Given the description of an element on the screen output the (x, y) to click on. 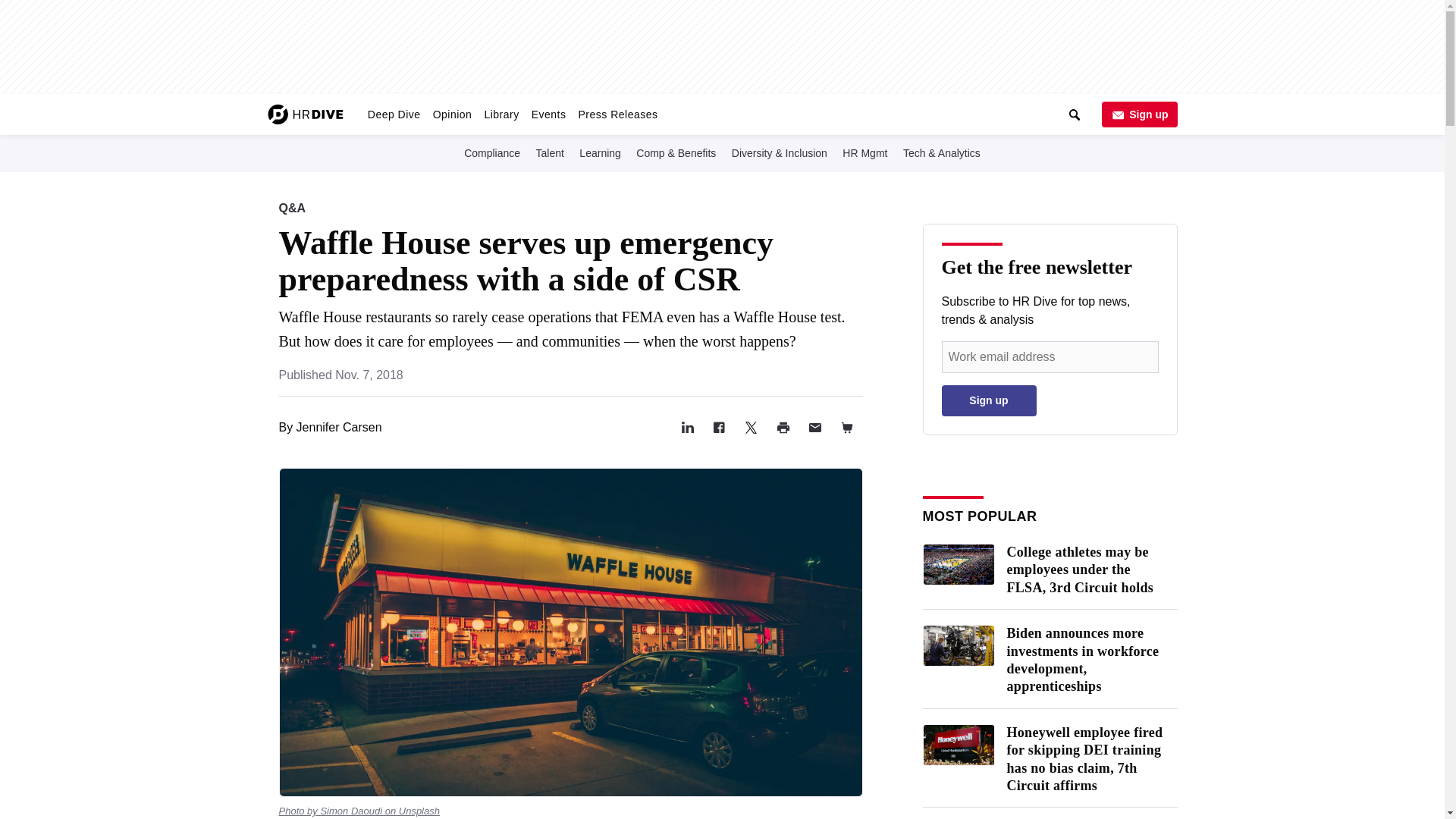
Compliance (491, 152)
Opinion (452, 114)
Library (500, 114)
Learning (600, 152)
Photo by Simon Daoudi on Unsplash (359, 810)
HR Mgmt (864, 152)
Deep Dive (393, 114)
Sign up (1138, 114)
Events (548, 114)
Press Releases (617, 114)
Talent (549, 152)
